Given the description of an element on the screen output the (x, y) to click on. 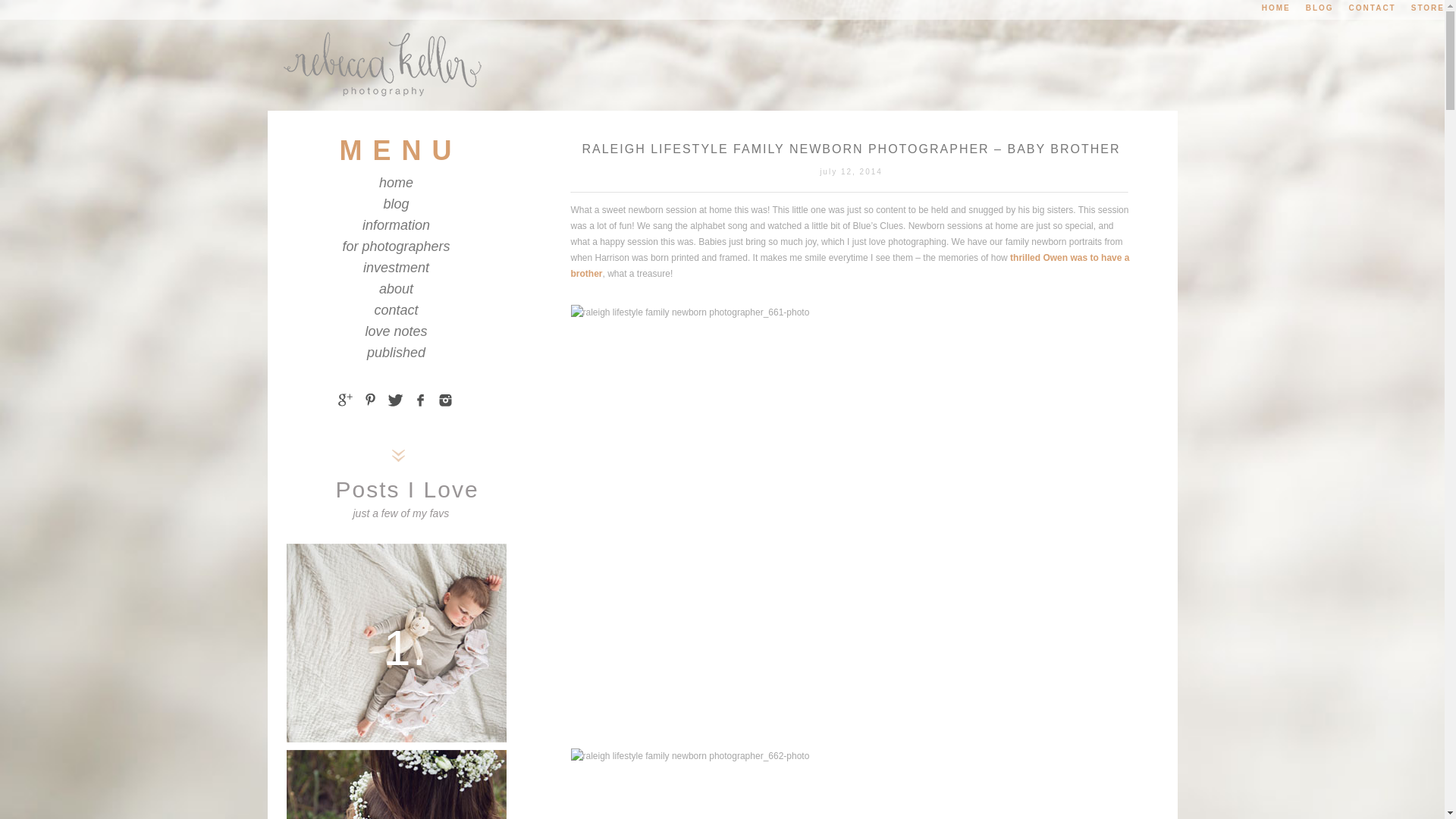
about (395, 288)
love notes (395, 331)
published (395, 352)
contact (395, 309)
home (395, 182)
blog (395, 203)
investment (395, 267)
HOME (1276, 8)
1. (396, 641)
information (395, 224)
for photographers (395, 246)
CONTACT (1372, 8)
BLOG (1319, 8)
